Given the description of an element on the screen output the (x, y) to click on. 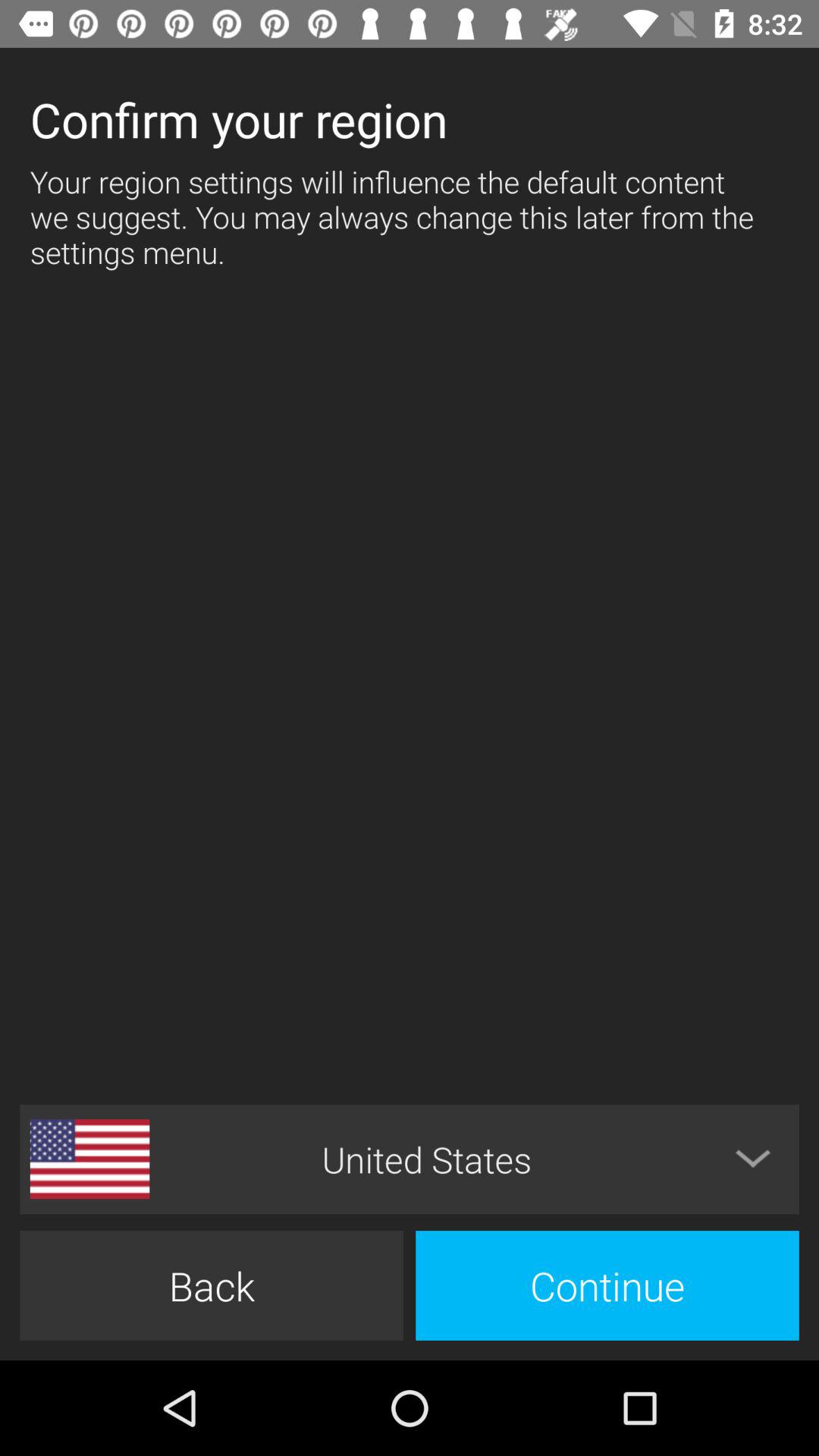
open icon below united states icon (607, 1285)
